Given the description of an element on the screen output the (x, y) to click on. 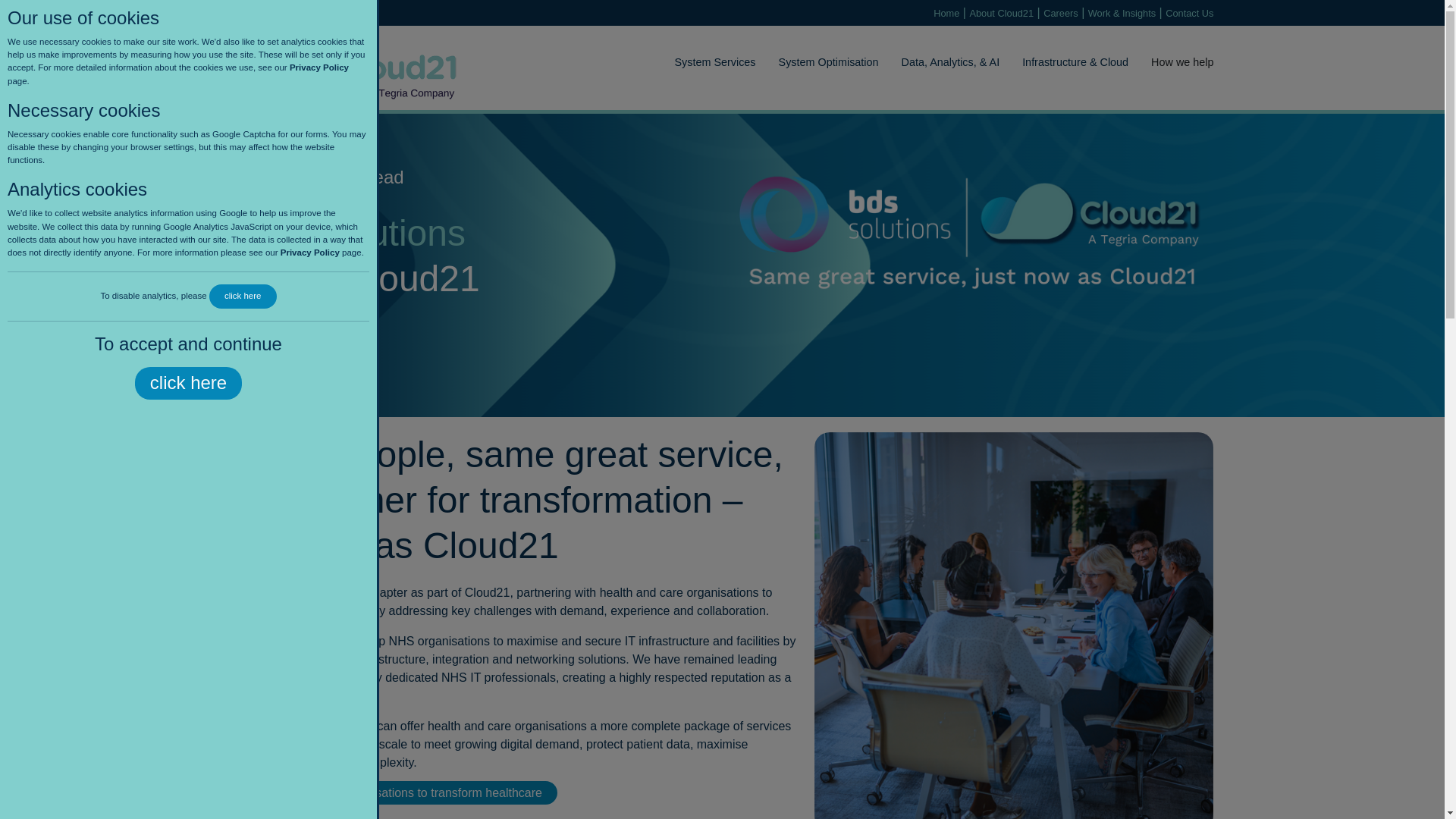
Home (946, 12)
How we help (1170, 62)
System Services (702, 62)
See how we help organisations to transform healthcare (393, 792)
Contact Us (1189, 12)
Careers (1060, 12)
About Cloud21 (1001, 12)
System Optimisation (817, 62)
click here (188, 382)
click here (242, 295)
